Given the description of an element on the screen output the (x, y) to click on. 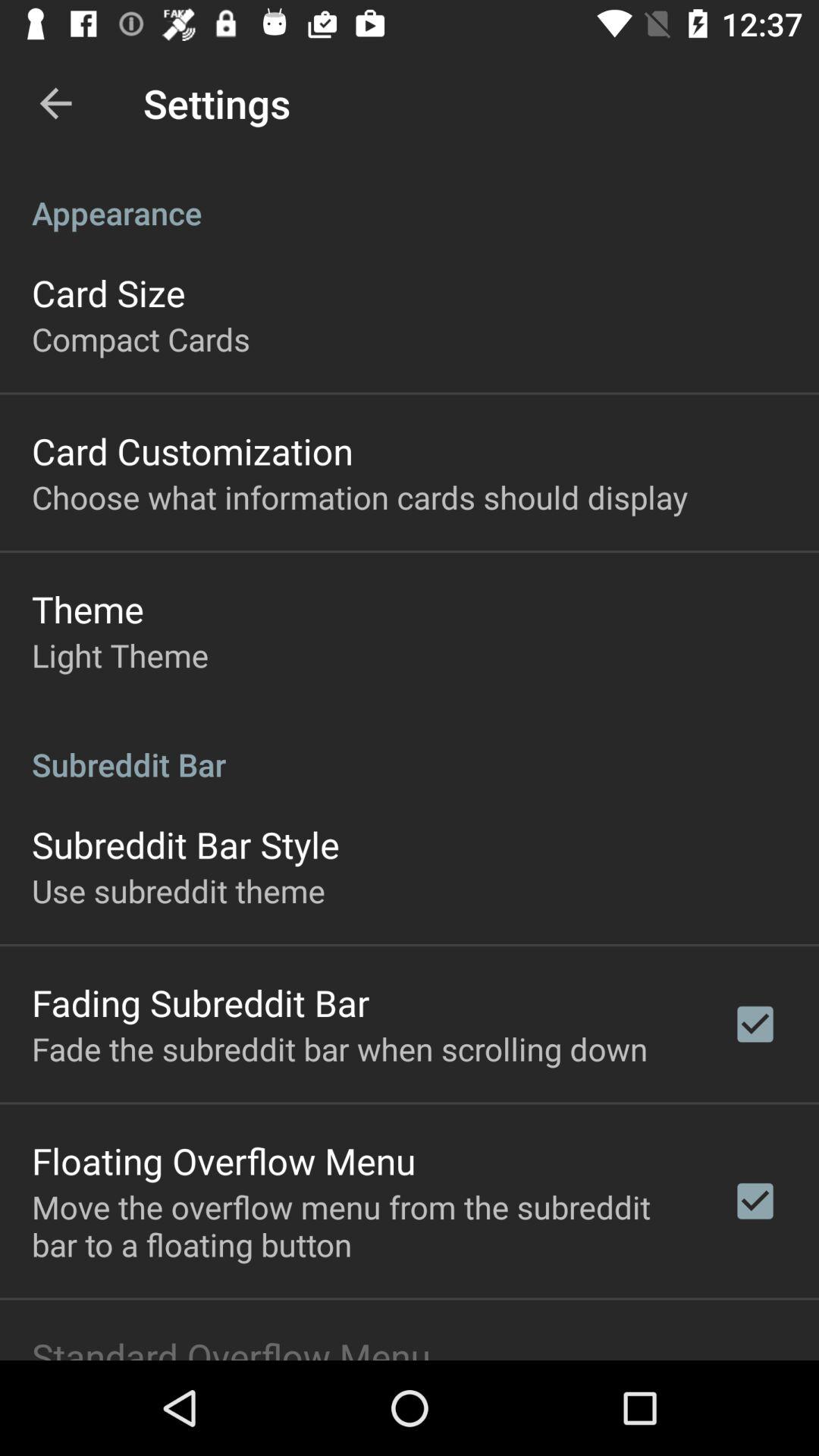
click the card size icon (108, 292)
